Given the description of an element on the screen output the (x, y) to click on. 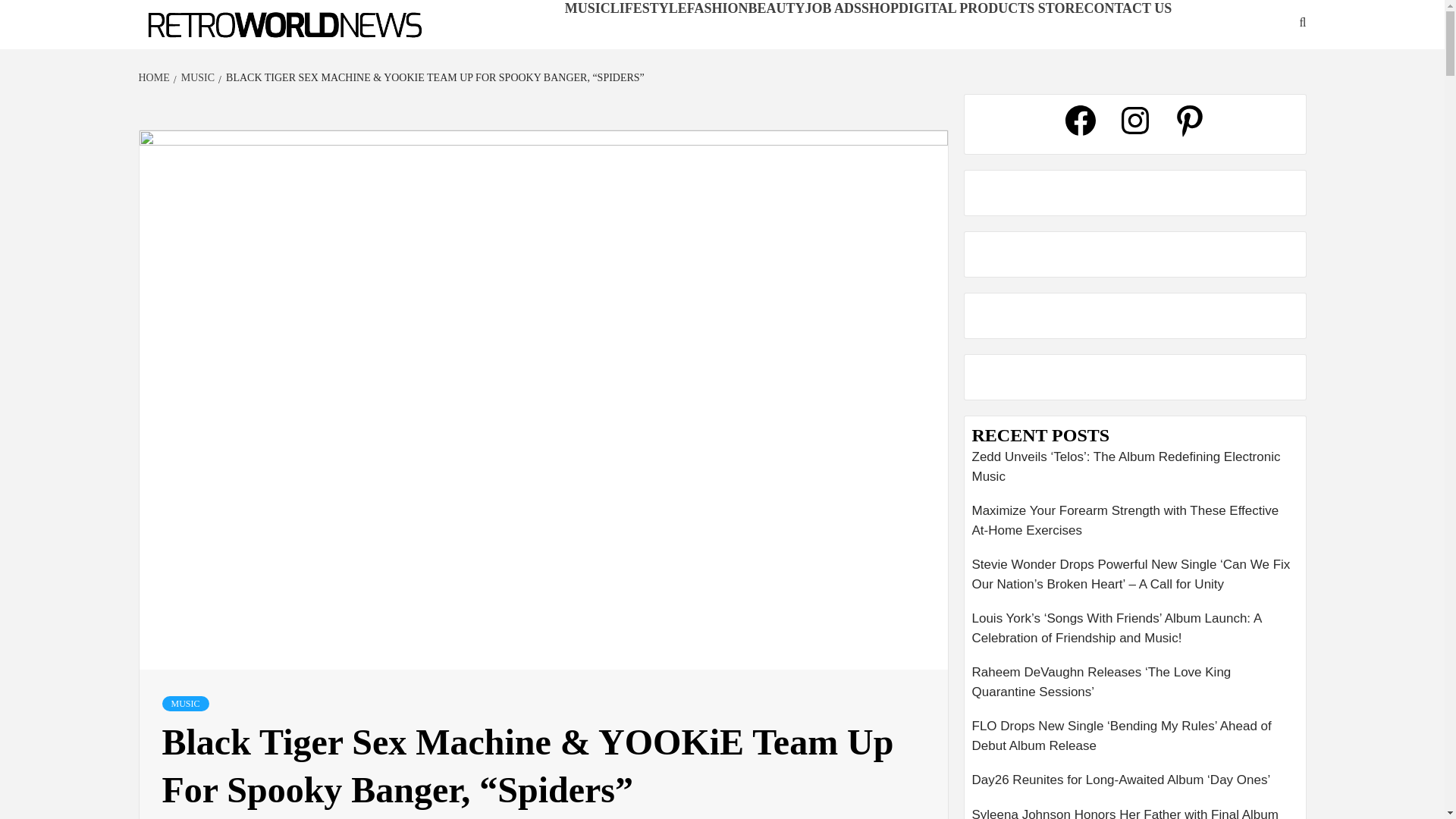
JOB ADS (833, 7)
RETROWORLDNEWS (223, 48)
MUSIC (185, 703)
HOME (155, 77)
SHOP (879, 7)
BEAUTY (776, 7)
DIGITAL PRODUCTS STORE (990, 7)
MUSIC (587, 7)
MUSIC (195, 77)
CONTACT US (1127, 7)
